Given the description of an element on the screen output the (x, y) to click on. 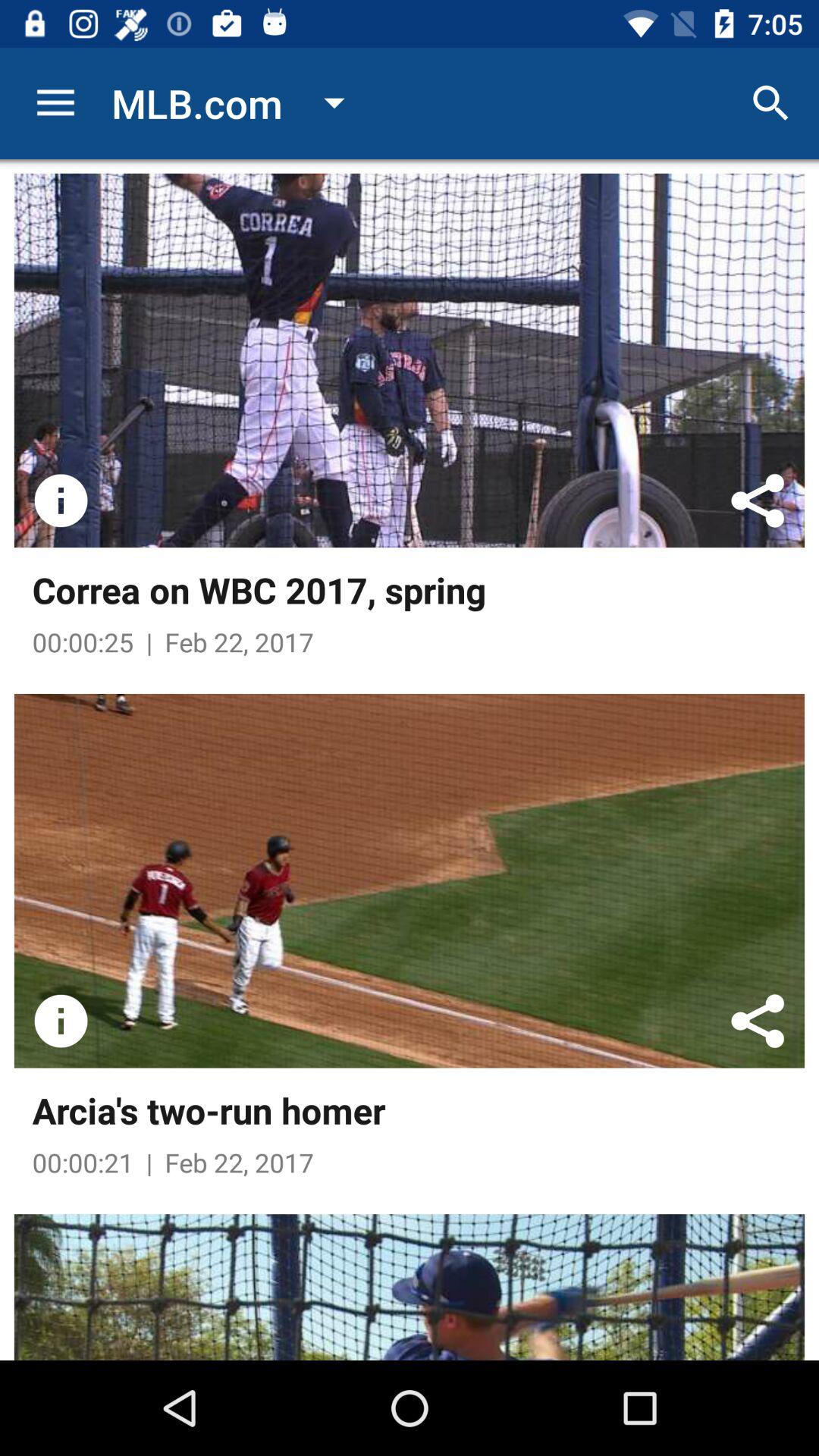
share news (757, 1021)
